Given the description of an element on the screen output the (x, y) to click on. 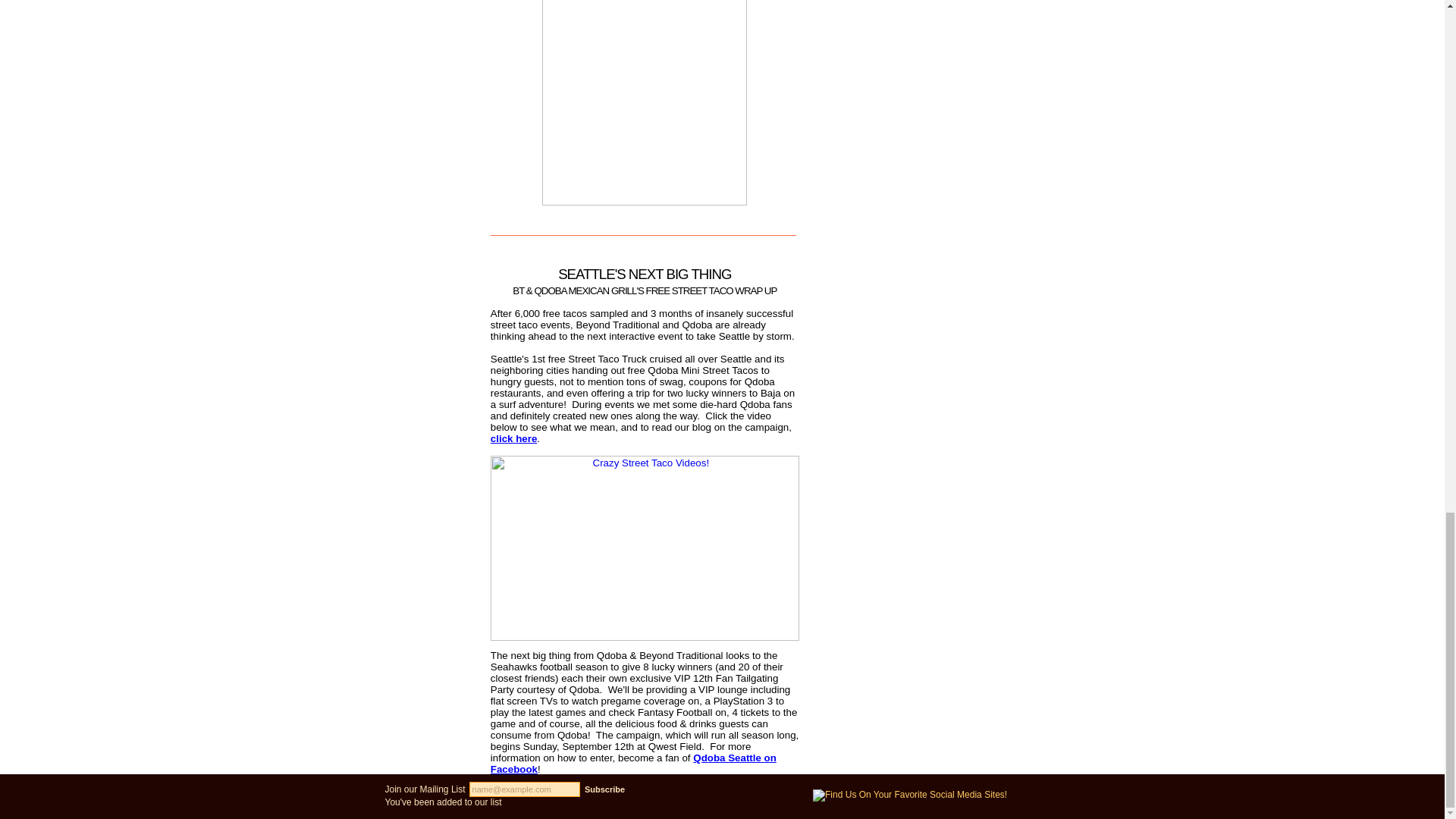
click here (513, 438)
Qdoba Seattle on Facebook (633, 763)
